Given the description of an element on the screen output the (x, y) to click on. 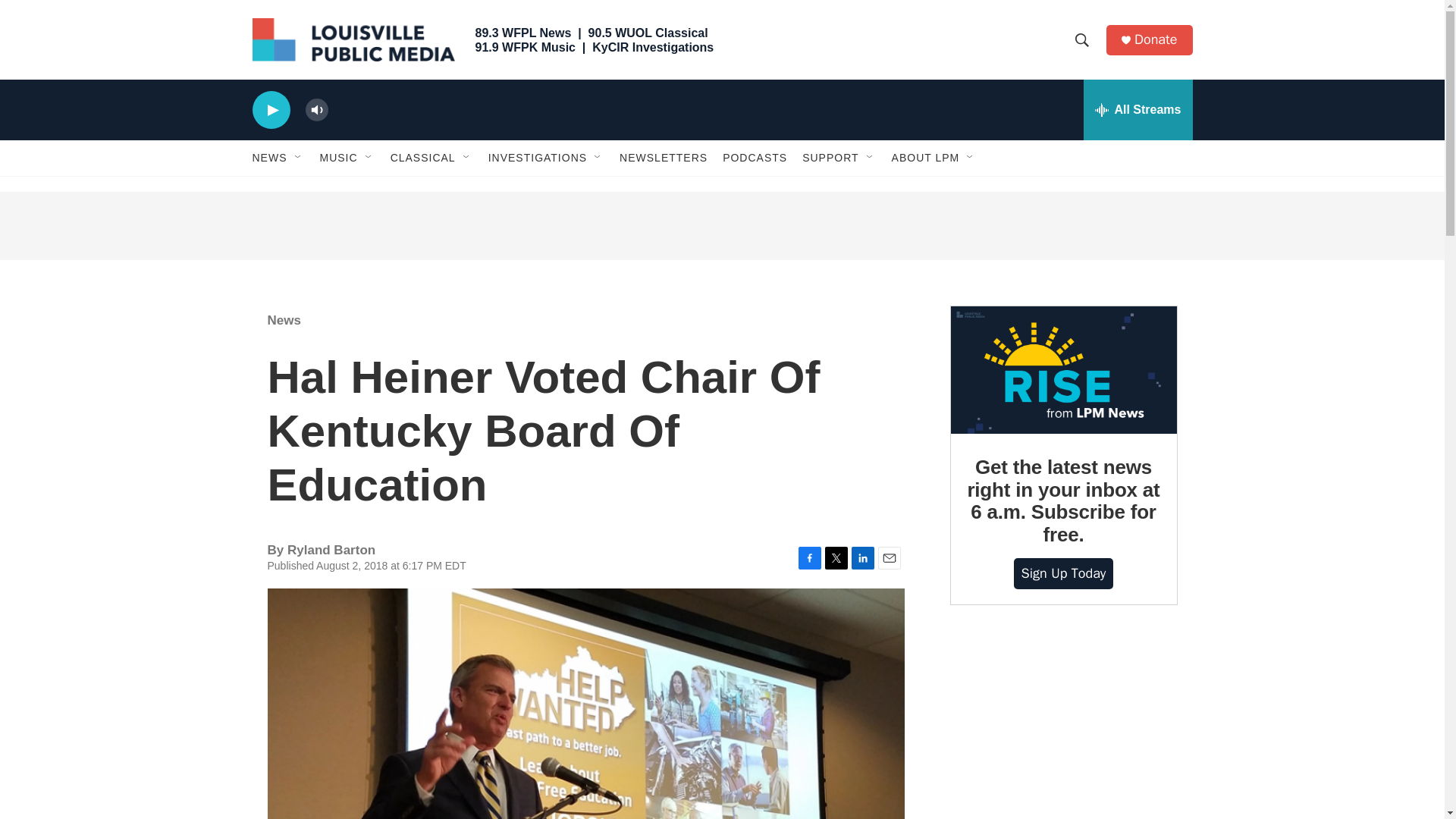
3rd party ad content (721, 225)
3rd party ad content (1062, 727)
